Given the description of an element on the screen output the (x, y) to click on. 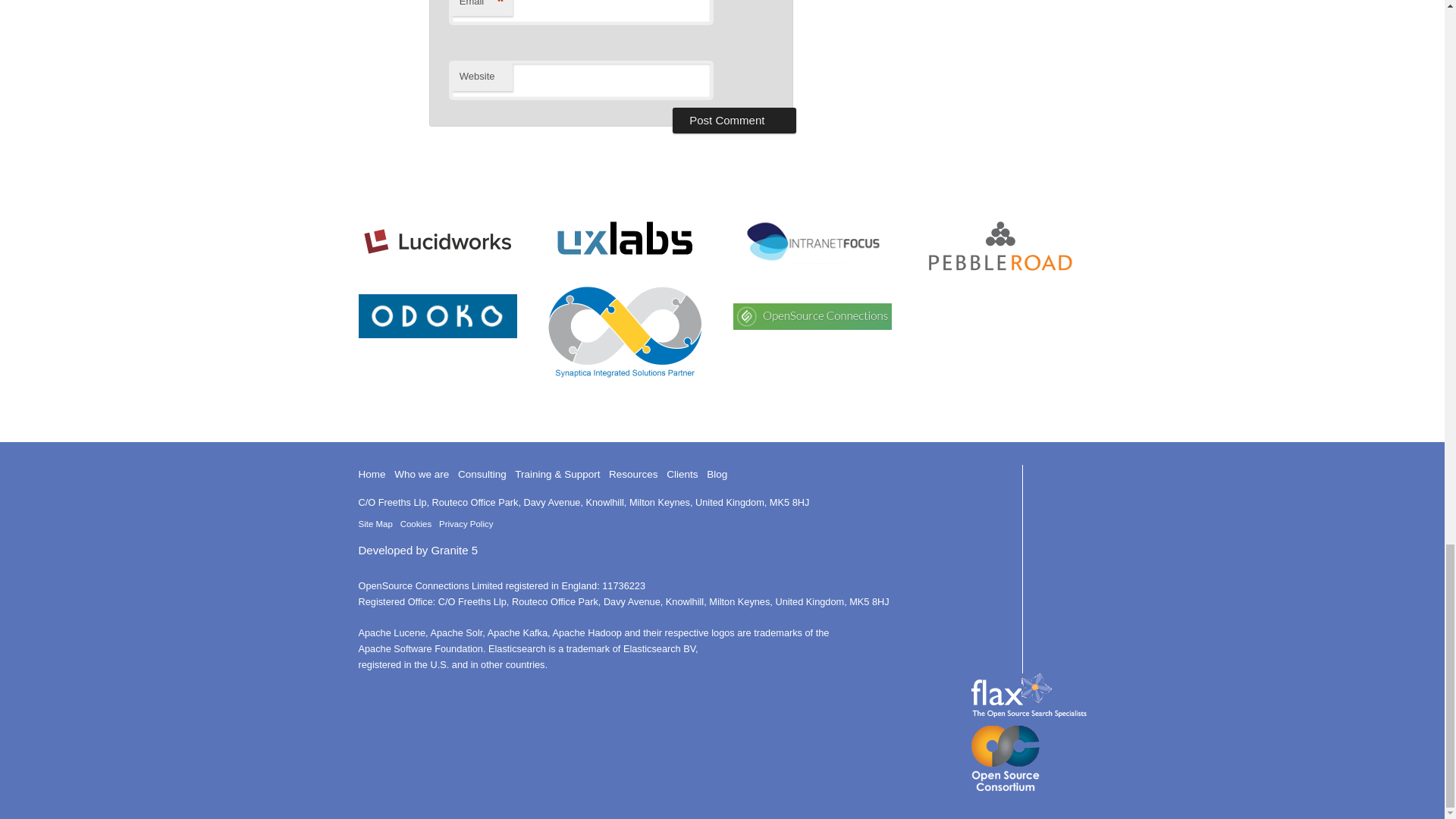
Post Comment (734, 120)
